Given the description of an element on the screen output the (x, y) to click on. 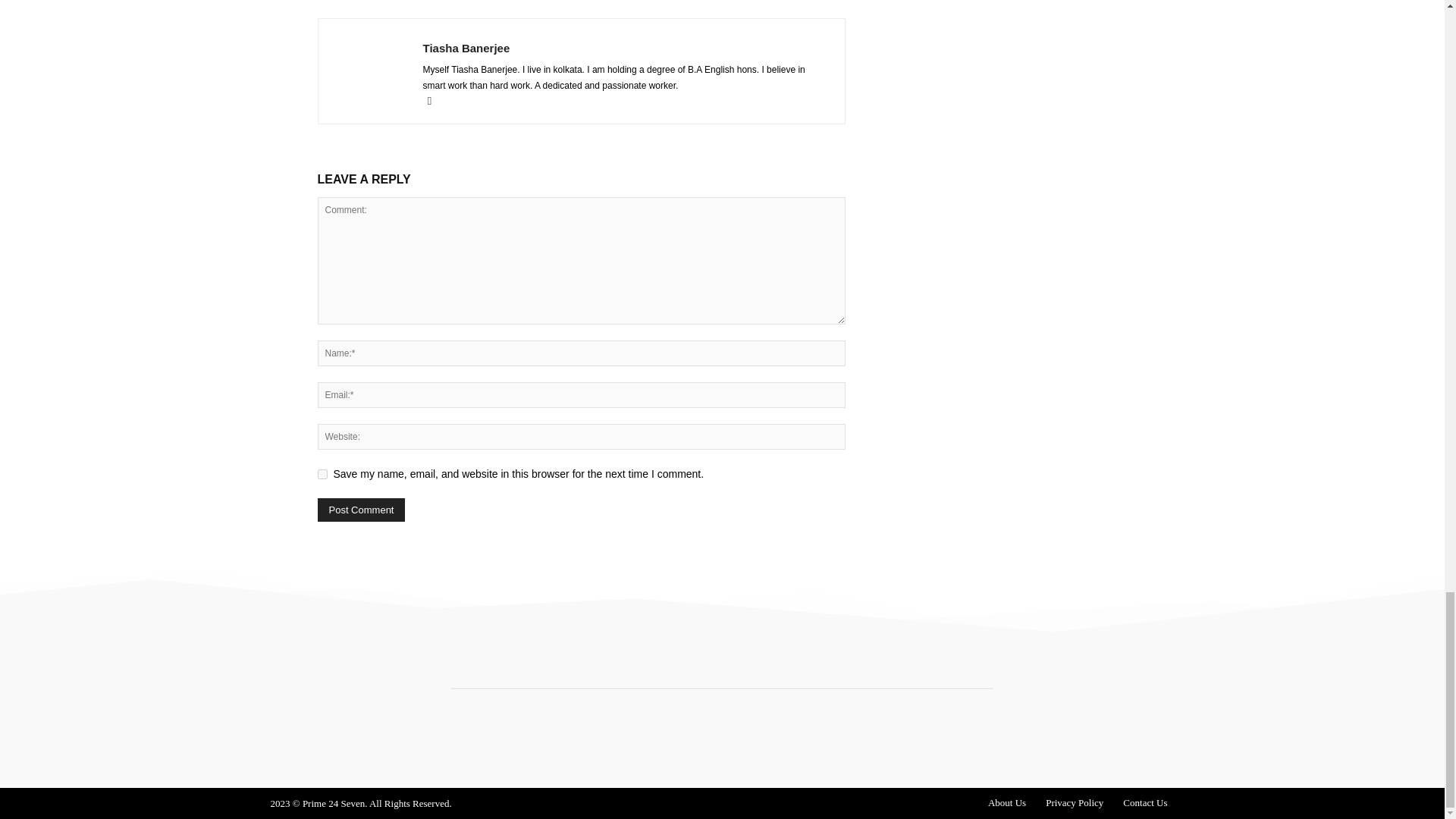
Post Comment (360, 509)
yes (321, 474)
